Given the description of an element on the screen output the (x, y) to click on. 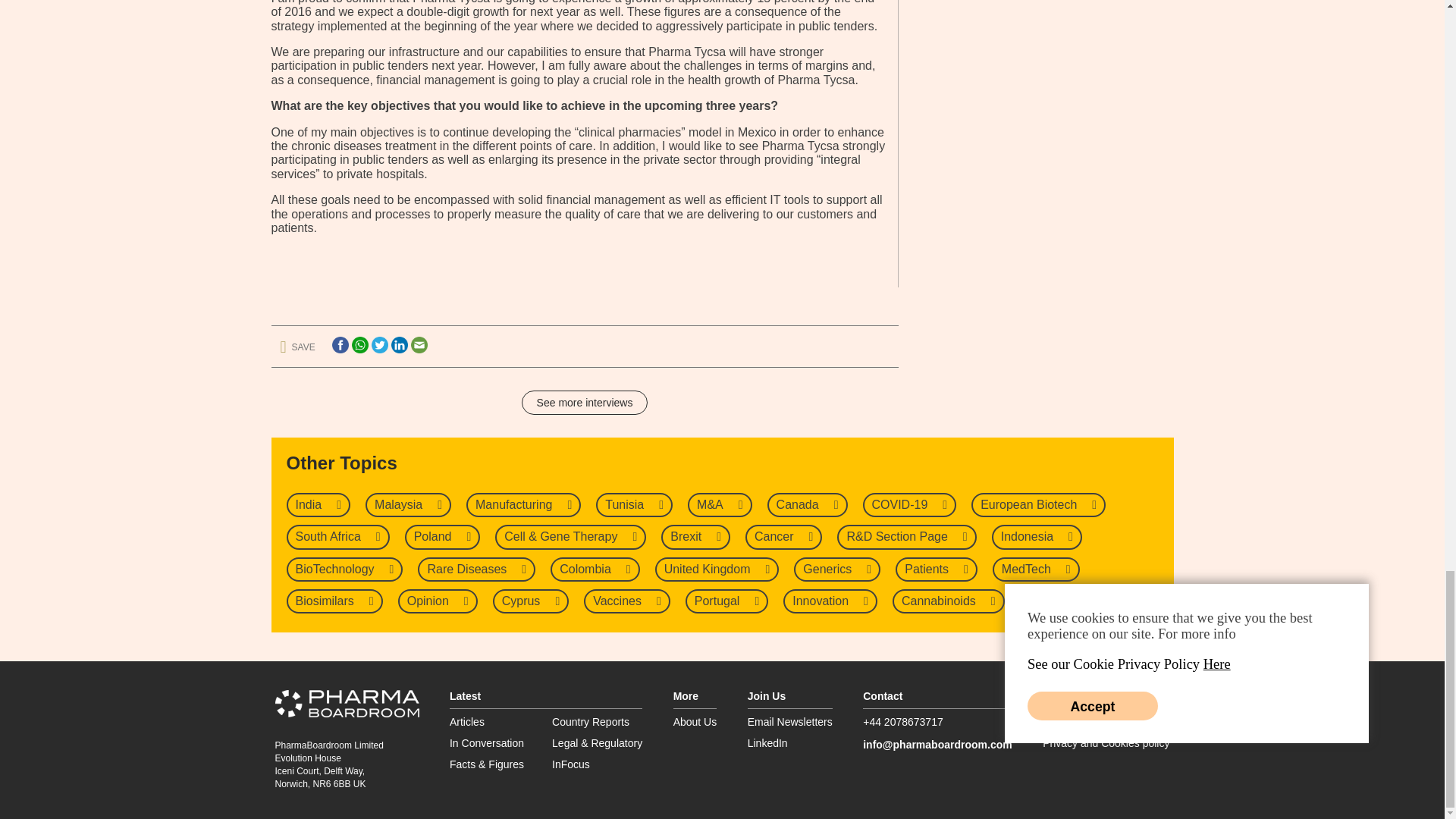
LinkedIn (399, 344)
Facebook (340, 344)
Twitter (379, 344)
Email (419, 344)
WhatsApp (360, 344)
